Given the description of an element on the screen output the (x, y) to click on. 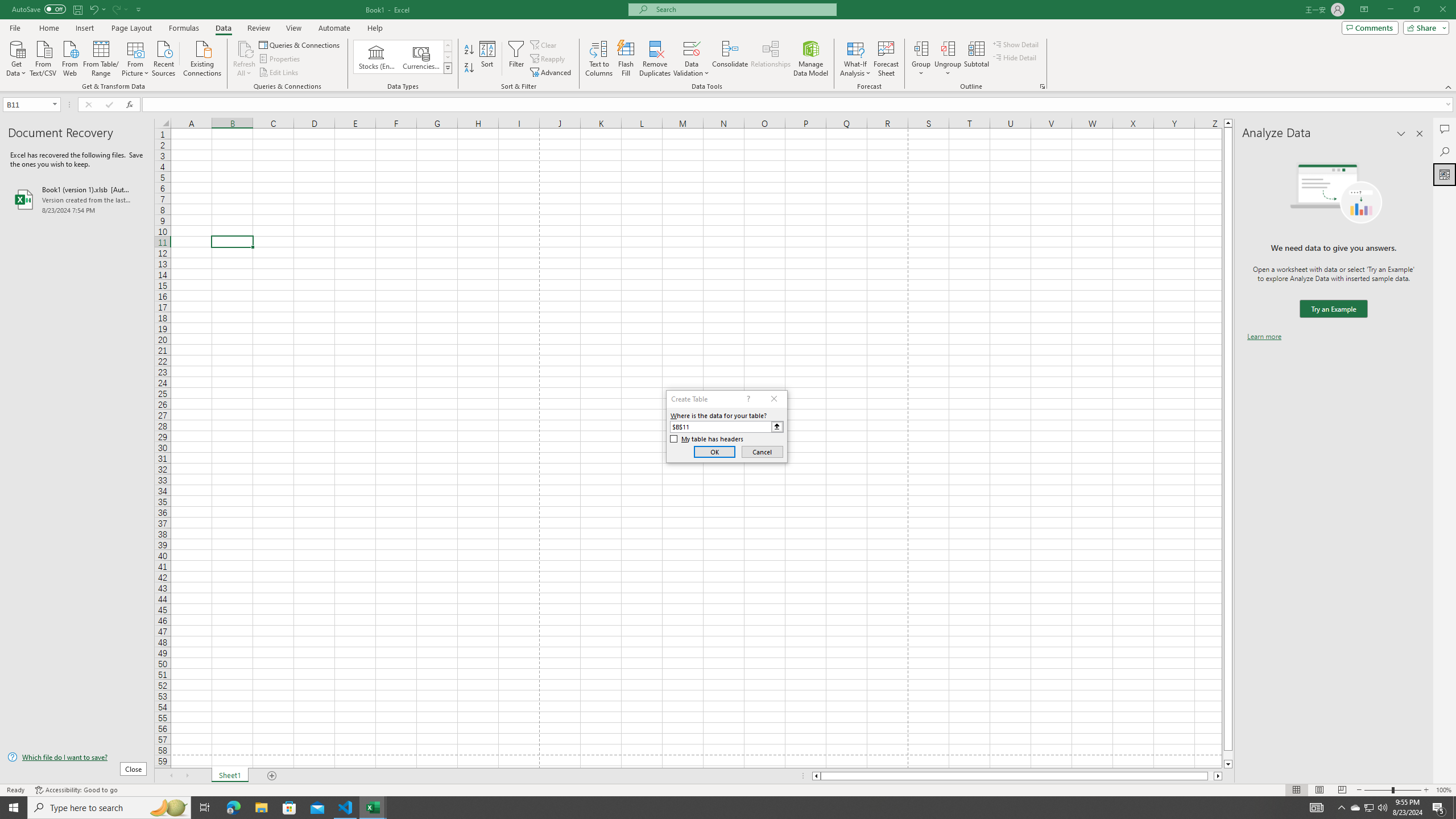
Edit Links (279, 72)
Column left (815, 775)
Data (223, 28)
Redo (115, 9)
Task Pane Options (1400, 133)
Filter (515, 58)
Class: NetUIImage (447, 68)
Review (258, 28)
Normal (1296, 790)
Sort Z to A (469, 67)
Help (374, 28)
Ribbon Display Options (1364, 9)
Scroll Right (187, 775)
Refresh All (244, 48)
